Given the description of an element on the screen output the (x, y) to click on. 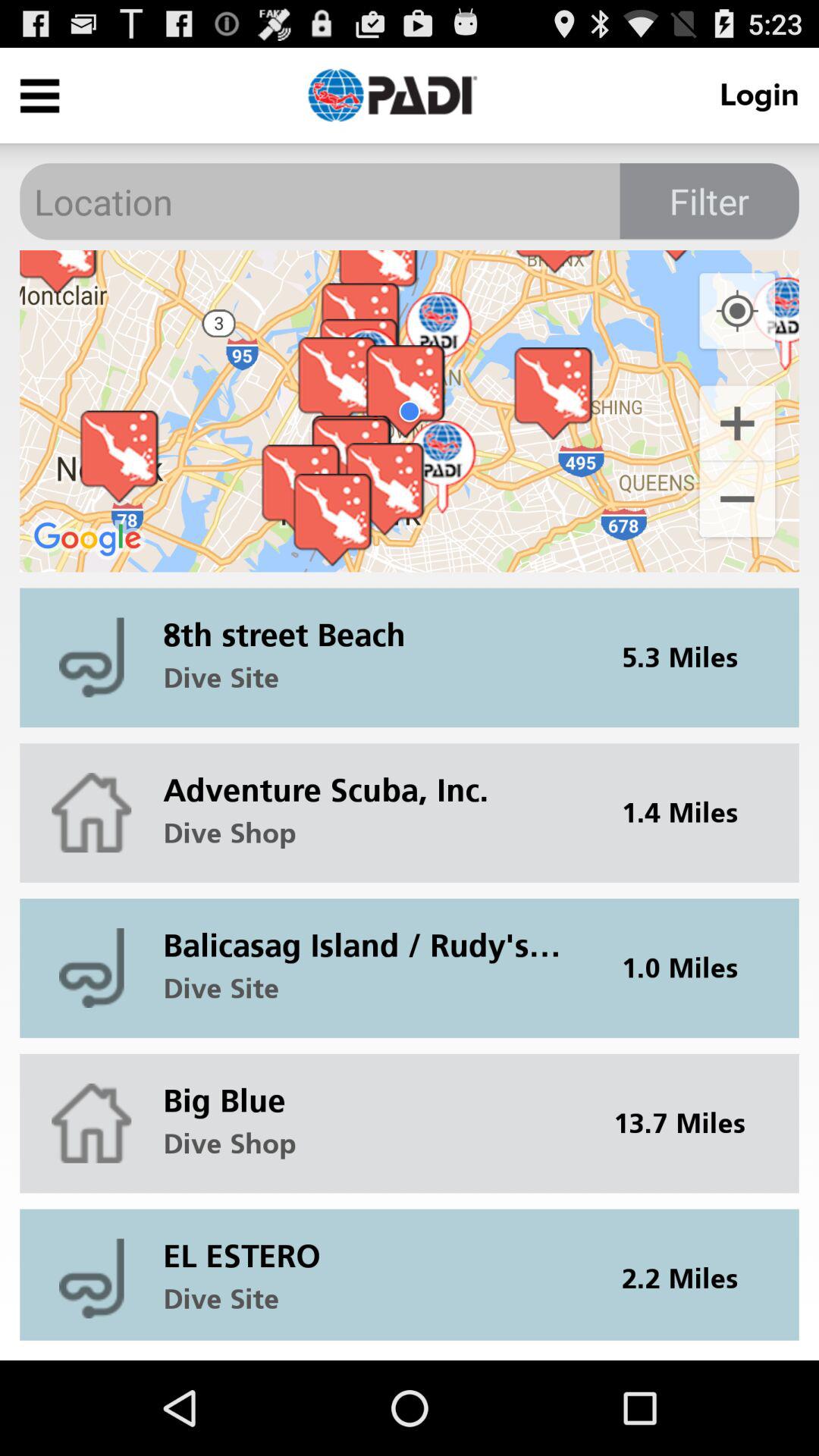
select main menu (39, 95)
